Given the description of an element on the screen output the (x, y) to click on. 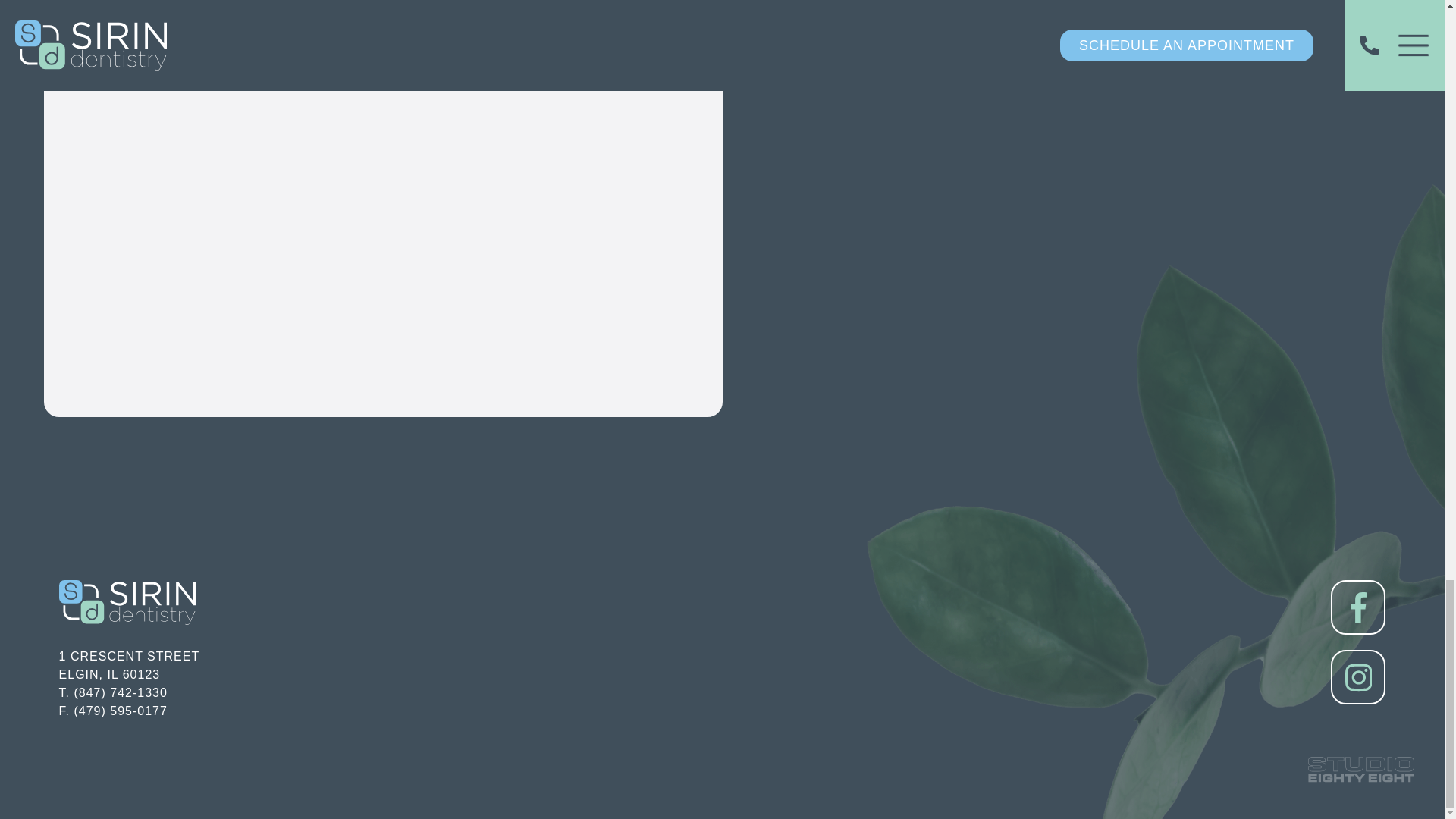
Studio Eighty Eight (129, 665)
Studio Eighty Eight (1360, 769)
